Given the description of an element on the screen output the (x, y) to click on. 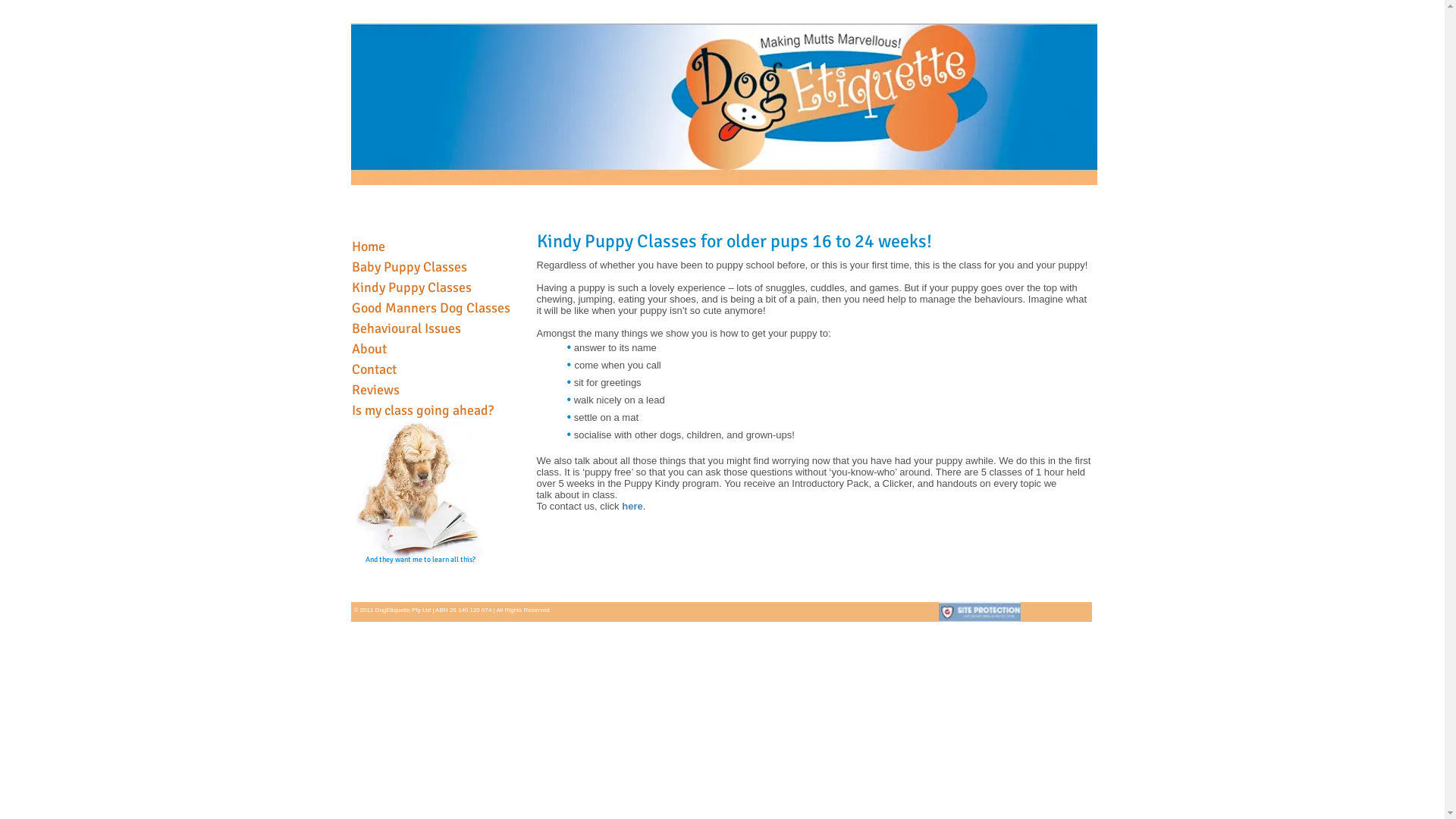
About Element type: text (368, 348)
Footer.jpg 2015-3-24-14:8:59 Element type: hover (720, 611)
Good Manners Element type: text (870, 173)
Reviews Element type: text (375, 389)
Contact Element type: text (373, 368)
Good Manners Dog Classes Element type: text (430, 307)
Baby Puppy Element type: text (572, 173)
Welcome 2 Element type: text (424, 173)
Behavioural Issues Element type: text (406, 328)
here Element type: text (631, 505)
Header.jpg Element type: hover (723, 103)
Home Element type: text (368, 246)
Kindy Puppy Classes Element type: text (411, 287)
Is my class going ahead? Element type: text (422, 409)
Kindy Puppy Element type: text (721, 173)
Protectionbadge.jpg Element type: hover (979, 611)
LearnAllThat.jpg Element type: hover (419, 489)
Baby Puppy Classes Element type: text (409, 266)
